Given the description of an element on the screen output the (x, y) to click on. 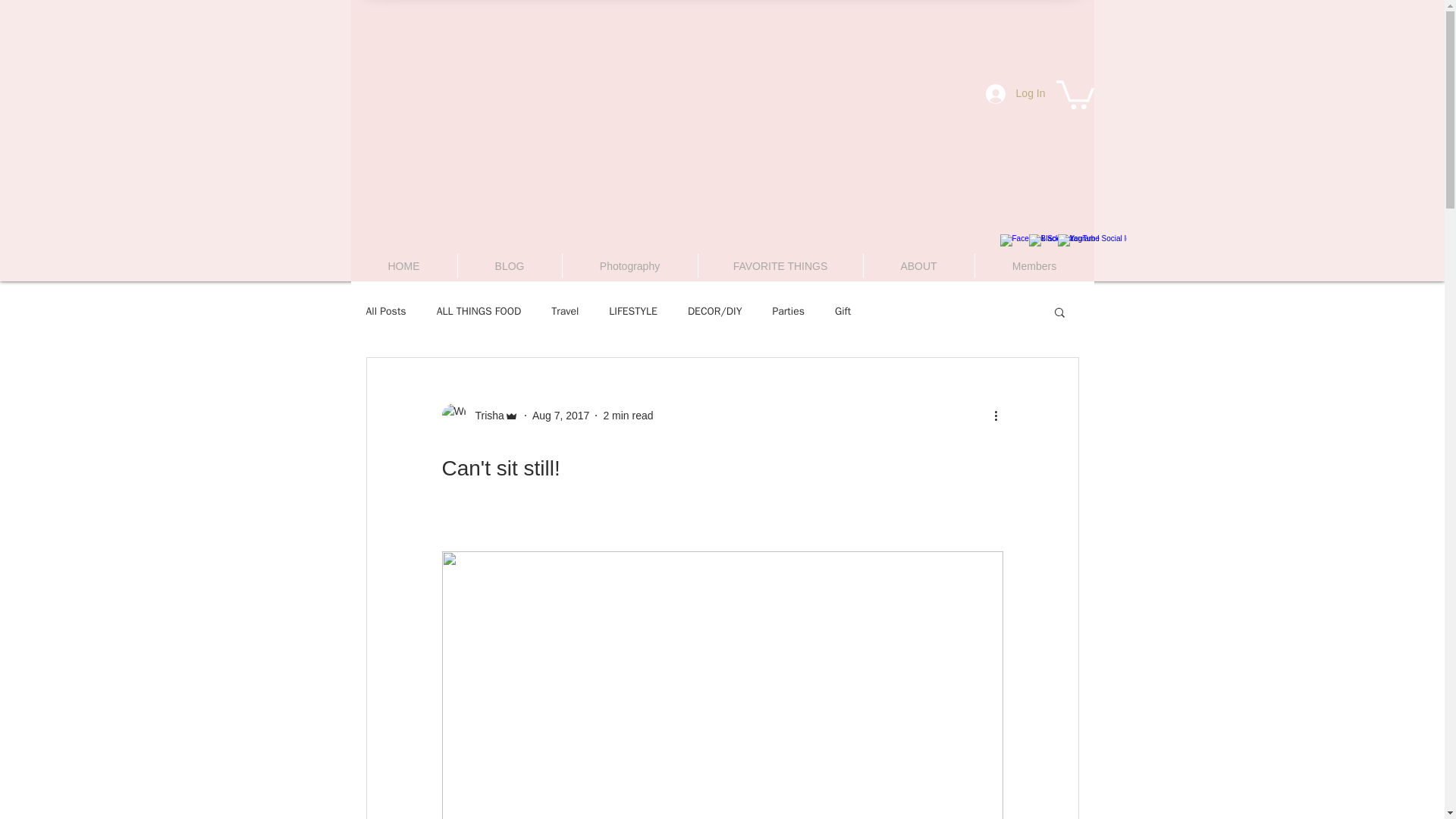
Trisha  (484, 415)
ABOUT (918, 265)
2 min read (627, 415)
Parties (788, 311)
Travel (564, 311)
Aug 7, 2017 (560, 415)
Photography (629, 265)
Trisha (479, 415)
BLOG (510, 265)
FAVORITE THINGS (779, 265)
